Given the description of an element on the screen output the (x, y) to click on. 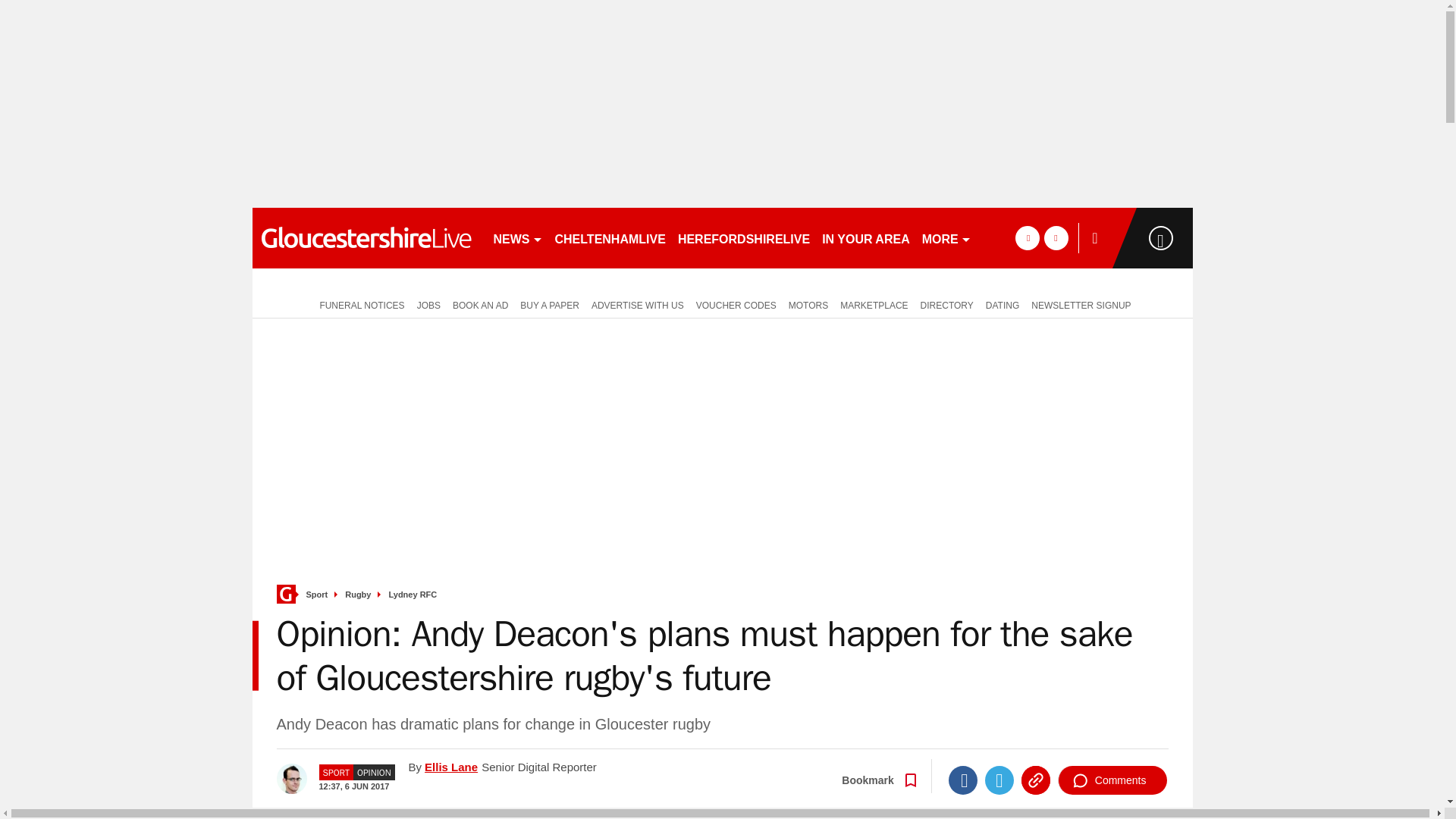
HEREFORDSHIRELIVE (743, 238)
MORE (945, 238)
NEWS (517, 238)
IN YOUR AREA (865, 238)
CHELTENHAMLIVE (609, 238)
Twitter (999, 779)
Facebook (962, 779)
facebook (1026, 238)
twitter (1055, 238)
gloucestershirelive (365, 238)
